Given the description of an element on the screen output the (x, y) to click on. 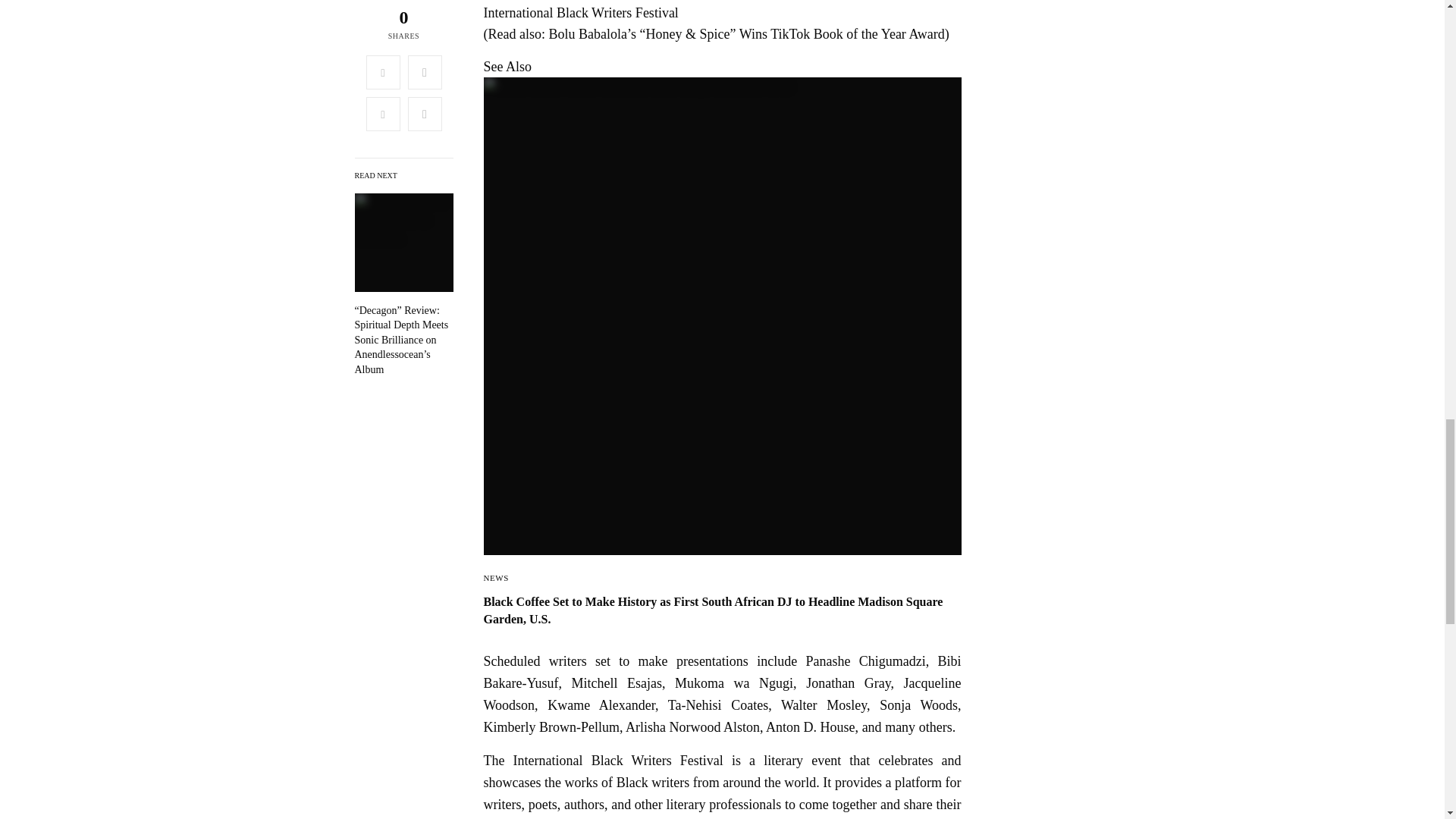
NEWS (495, 577)
